Given the description of an element on the screen output the (x, y) to click on. 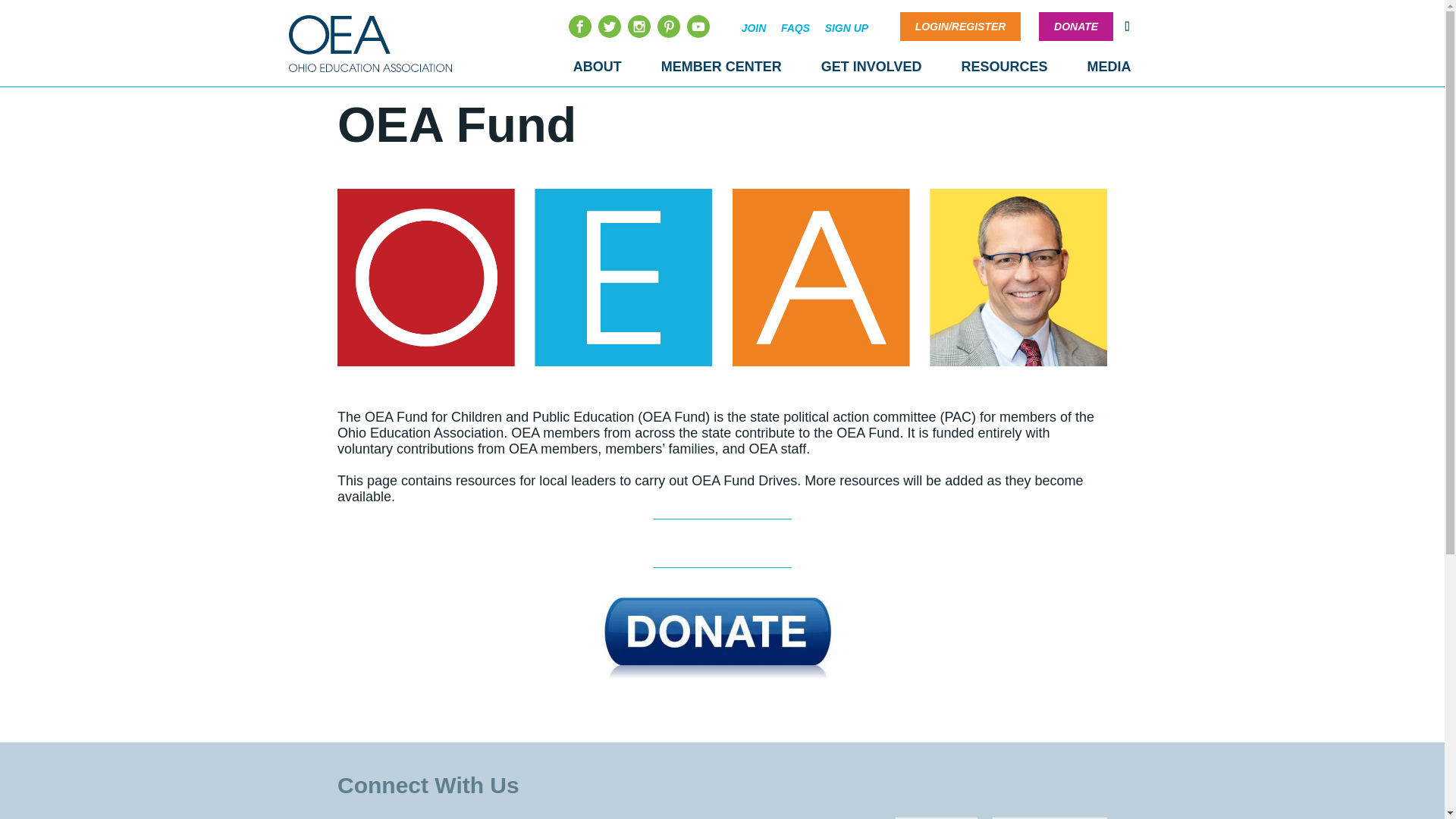
MEMBER CENTER (721, 66)
ABOUT (597, 66)
GET INVOLVED (871, 66)
JOIN (754, 28)
FAQS (794, 28)
DONATE (1075, 26)
RESOURCES (1003, 66)
